Given the description of an element on the screen output the (x, y) to click on. 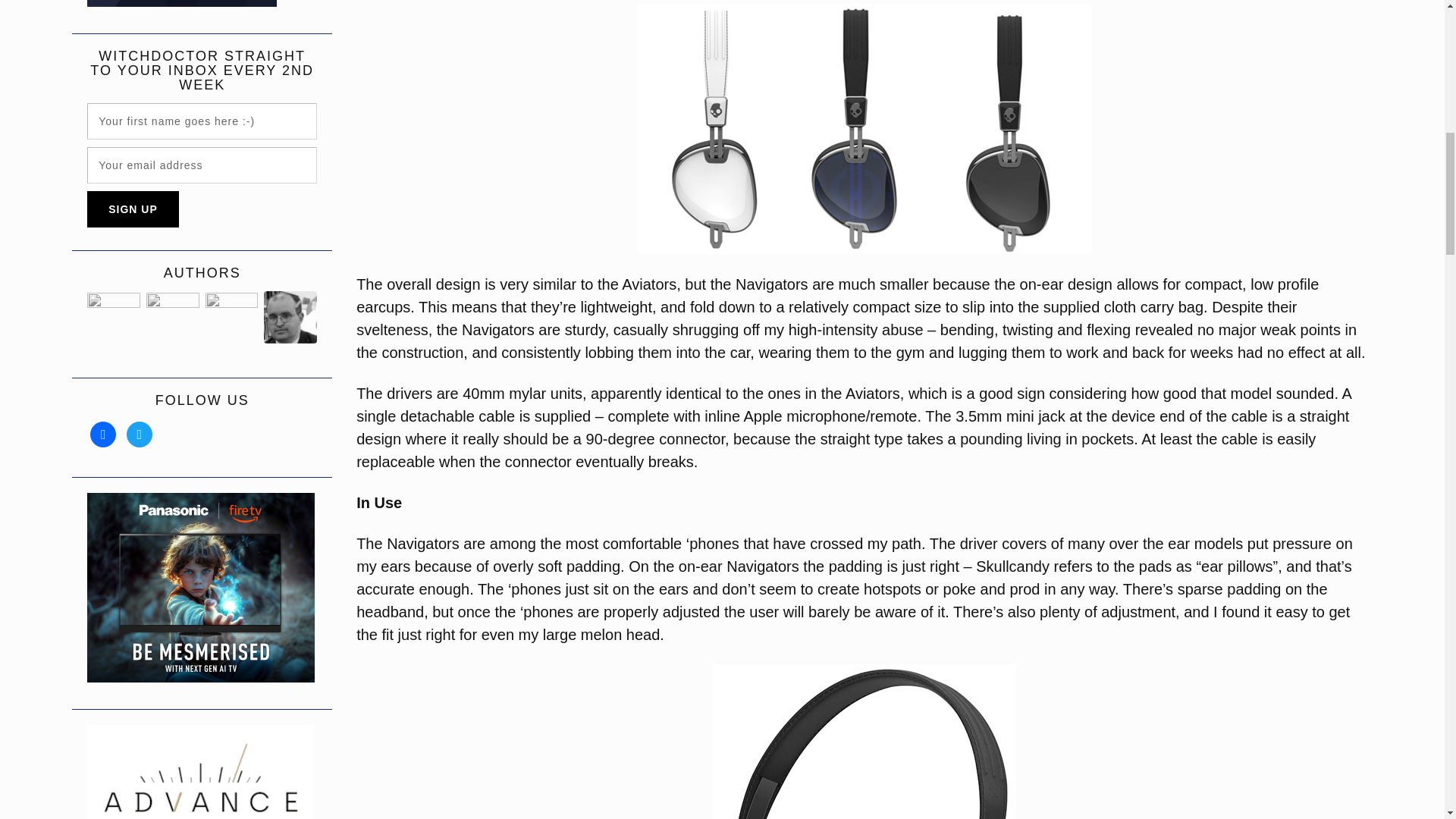
AshK (232, 317)
Matthew Kelly (290, 317)
Gary Steel (113, 317)
Pat Pilcher (173, 317)
Sign up (133, 208)
X (139, 434)
Facebook (1396, 22)
